Given the description of an element on the screen output the (x, y) to click on. 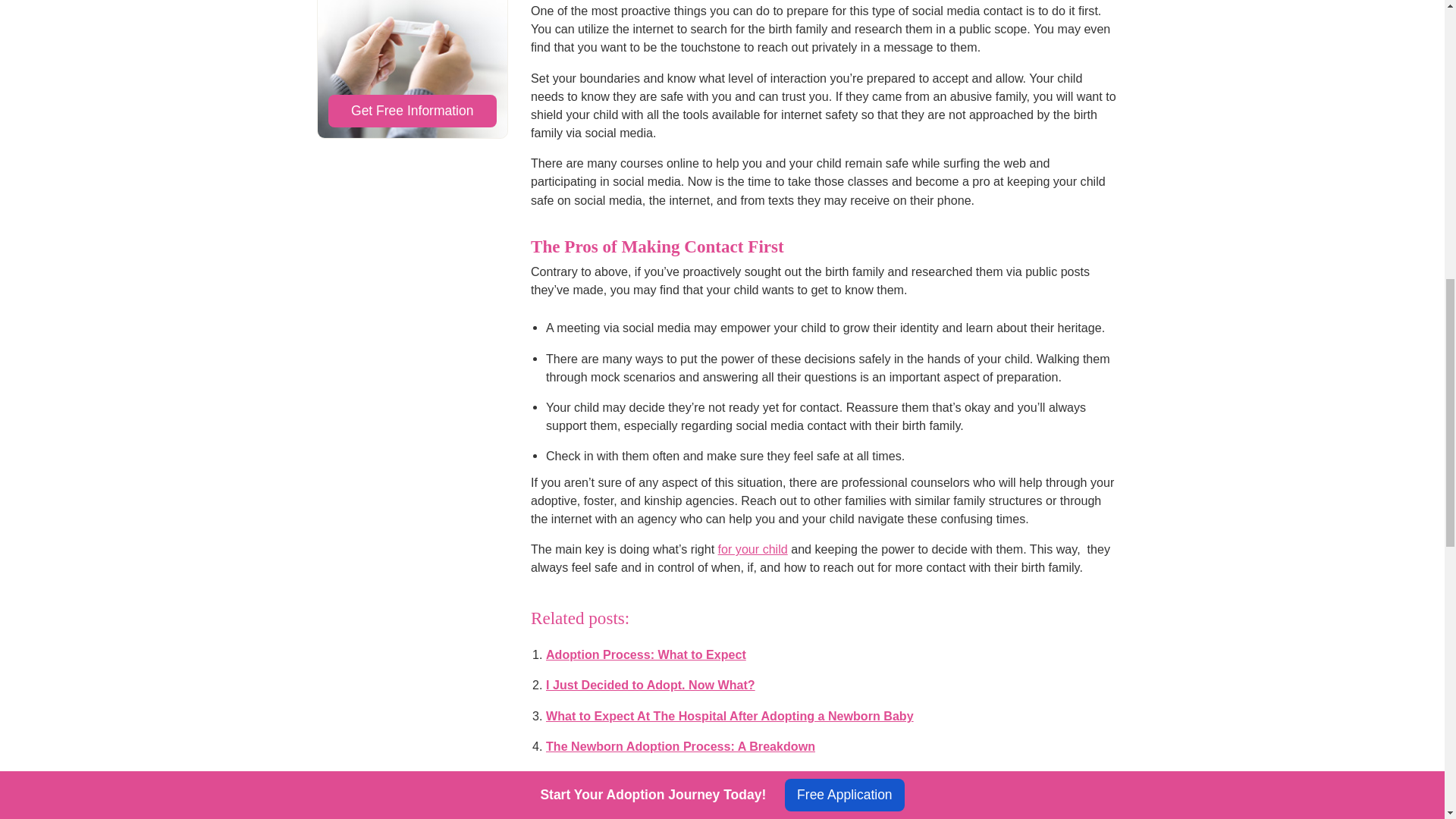
The Newborn Adoption Process: A Breakdown (680, 745)
I Just Decided to Adopt. Now What? (650, 684)
What to Expect At The Hospital After Adopting a Newborn Baby (730, 715)
Adoption Process: What to Expect (645, 653)
